Given the description of an element on the screen output the (x, y) to click on. 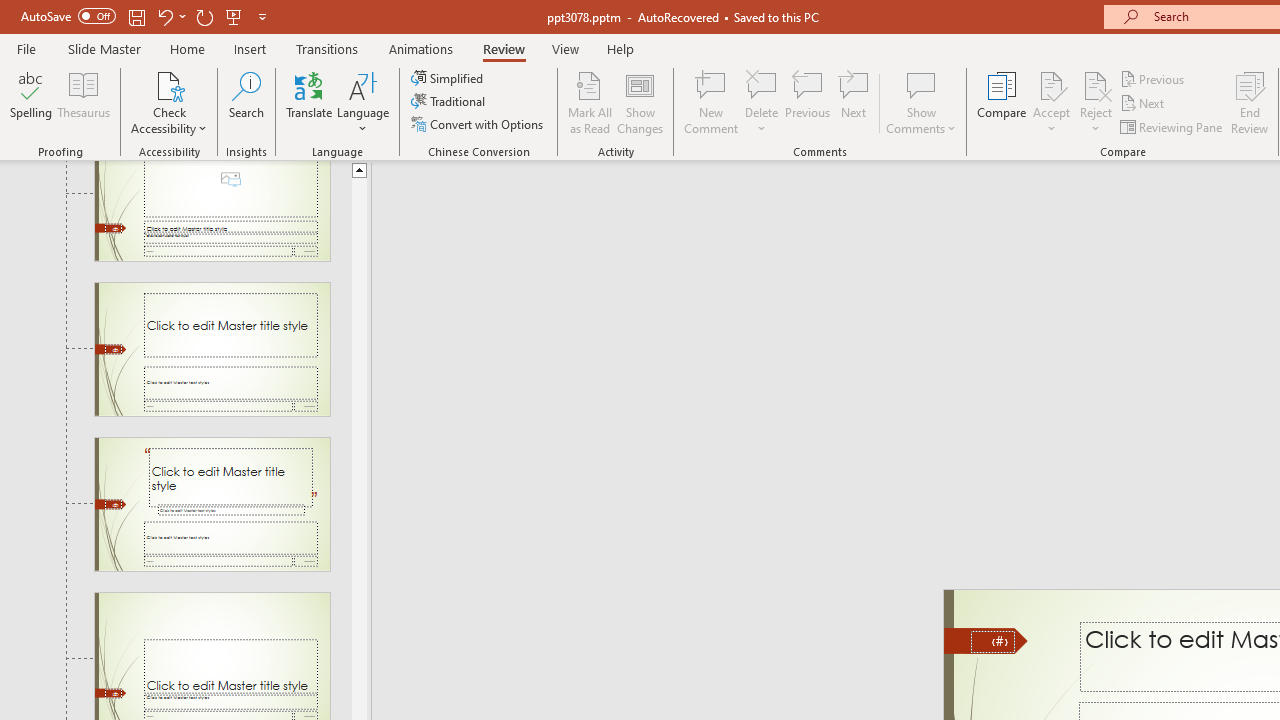
Slide Number (993, 641)
